Given the description of an element on the screen output the (x, y) to click on. 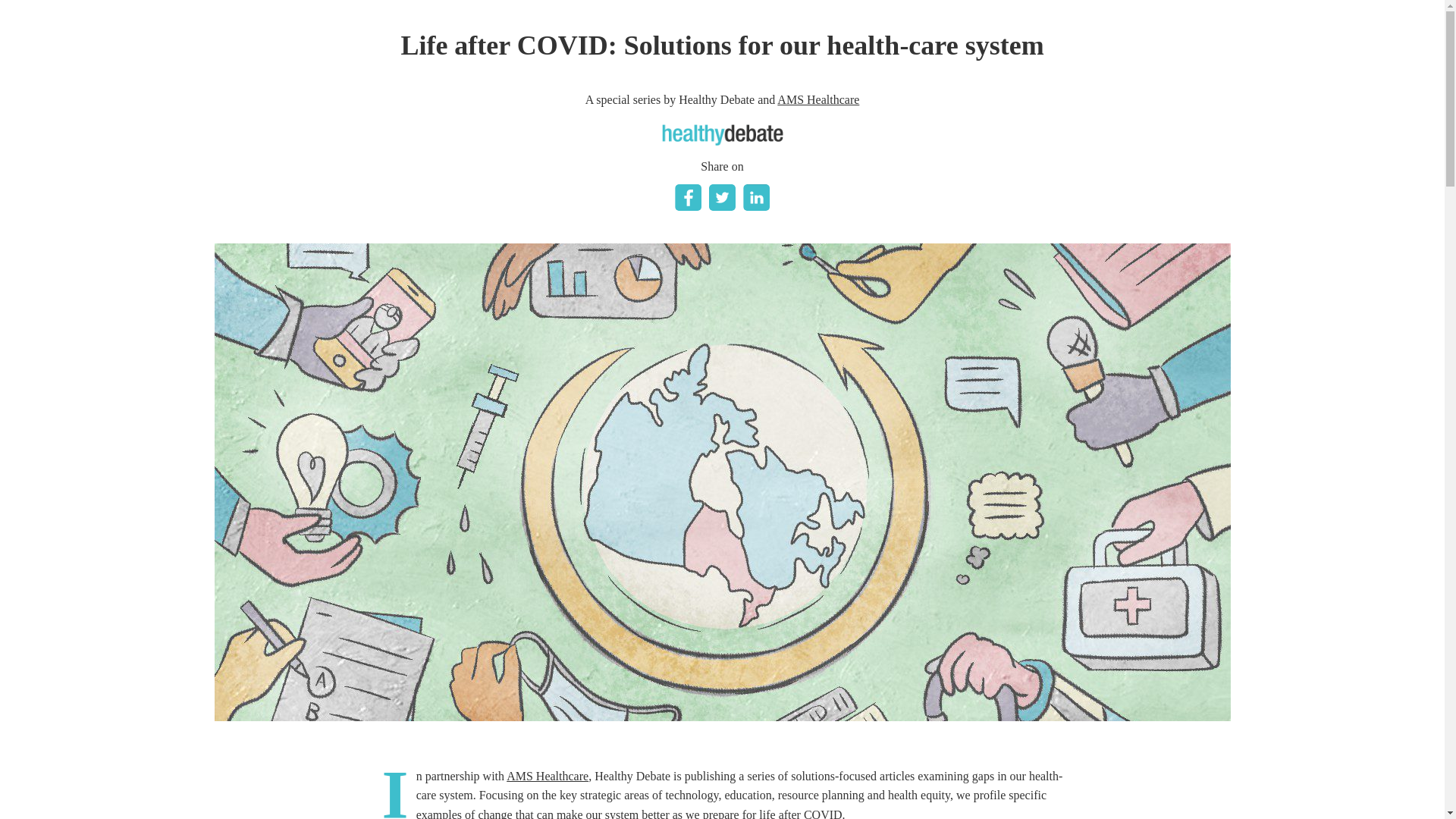
AMS Healthcare (818, 99)
Healthy Debate (722, 134)
AMS Healthcare (547, 775)
